Given the description of an element on the screen output the (x, y) to click on. 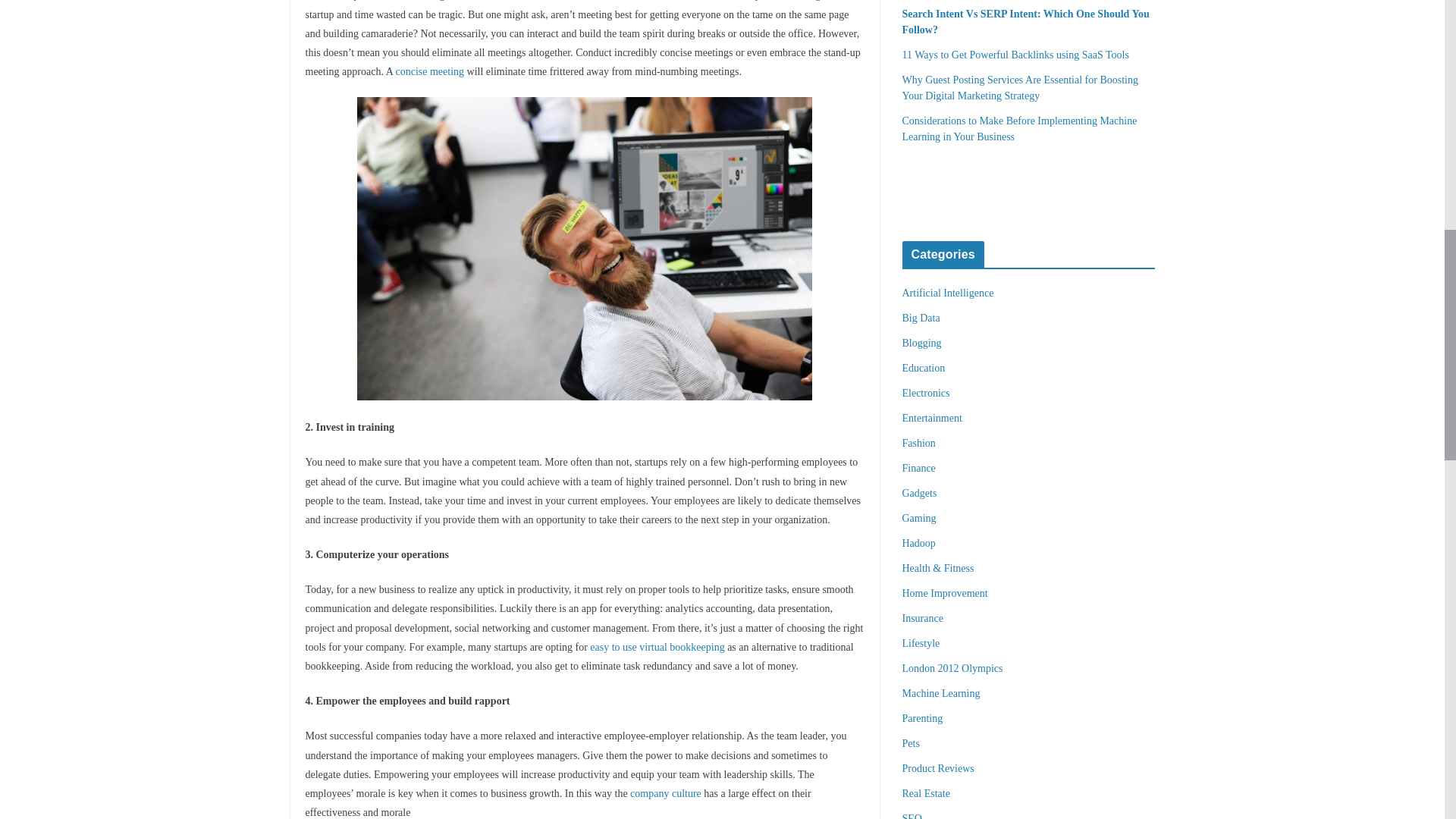
easy to use virtual bookkeeping (656, 646)
company culture (665, 793)
concise meeting (429, 71)
